Given the description of an element on the screen output the (x, y) to click on. 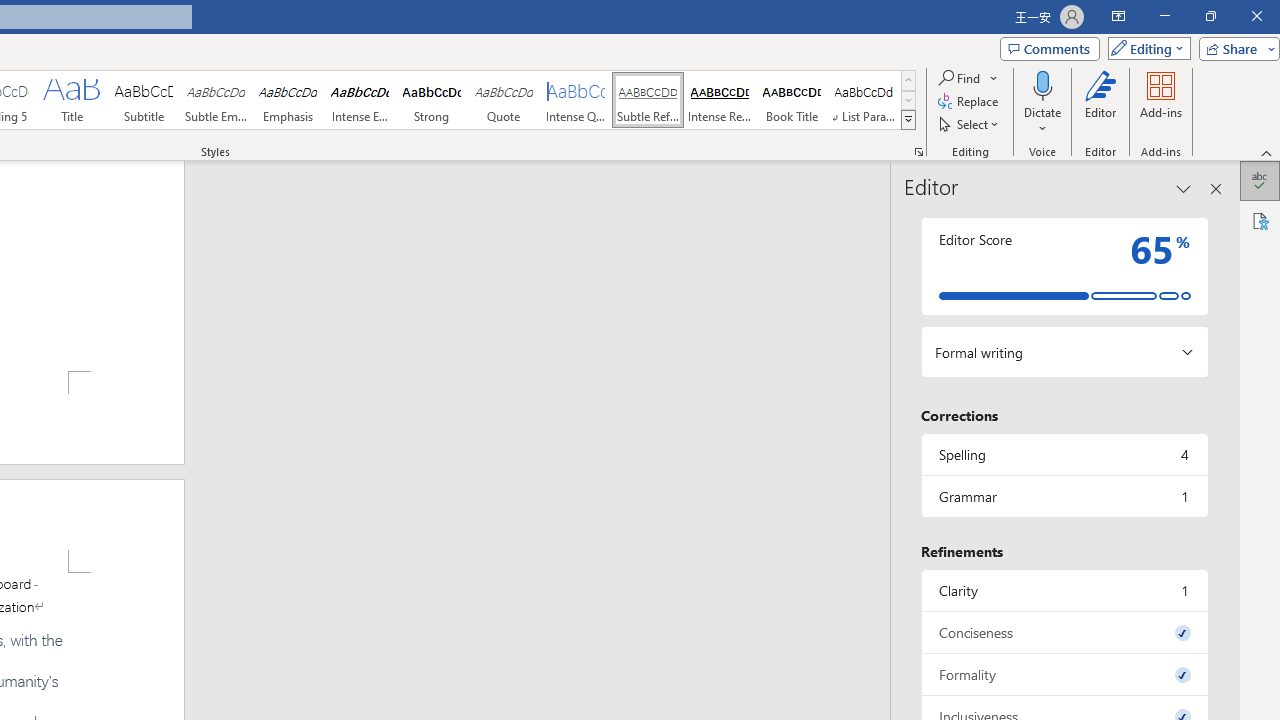
Comments (1049, 48)
Select (970, 124)
Editor Score 65% (1064, 266)
Replace... (969, 101)
Collapse the Ribbon (1267, 152)
Grammar, 1 issue. Press space or enter to review items. (1064, 495)
Accessibility (1260, 220)
Emphasis (287, 100)
Intense Quote (575, 100)
Subtle Reference (647, 100)
Quote (504, 100)
